Given the description of an element on the screen output the (x, y) to click on. 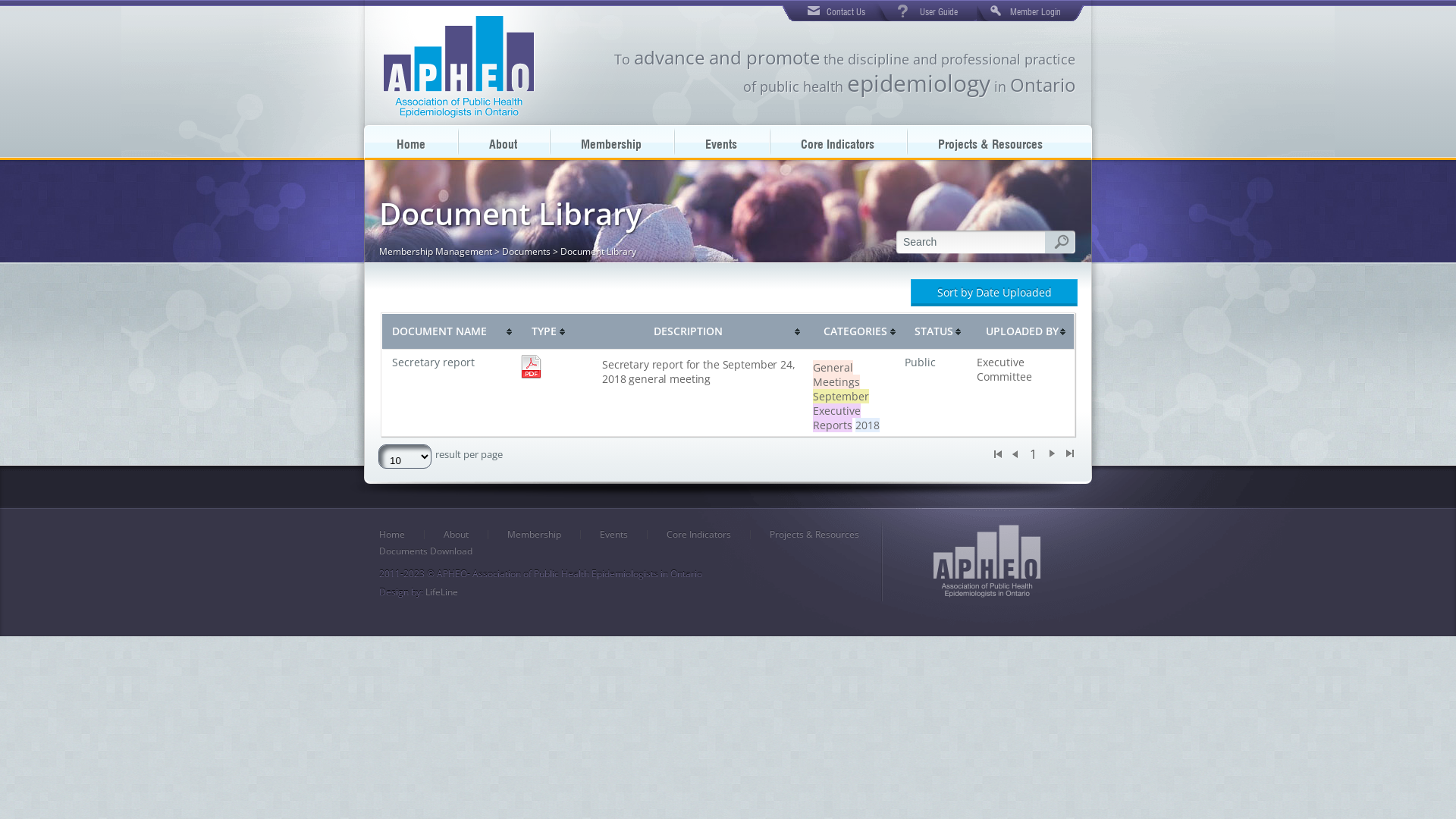
Documents Download Element type: text (425, 550)
Home Element type: text (391, 534)
General Meetings Element type: text (835, 374)
Sort by Date Uploaded Element type: text (993, 292)
  Element type: text (458, 66)
Core Indicators Element type: text (698, 534)
Previous page Element type: hover (1013, 454)
Home Element type: text (410, 141)
Membership Management Element type: text (435, 251)
Projects & Resources Element type: text (814, 534)
Projects & Resources Element type: text (990, 141)
Last page Element type: hover (1068, 454)
Executive Committee Element type: text (1004, 368)
First page Element type: hover (996, 454)
Next page Element type: hover (1052, 454)
About Element type: text (503, 141)
1 Element type: text (1033, 454)
September Element type: text (840, 396)
Membership Element type: text (534, 534)
Events Element type: text (720, 141)
Documents Element type: text (526, 251)
Events Element type: text (613, 534)
Membership Element type: text (611, 141)
LifeLine Element type: text (441, 591)
Core Indicators Element type: text (837, 141)
Contact Us Element type: text (836, 10)
2018 Element type: text (867, 424)
About Element type: text (455, 534)
User Guide Element type: text (935, 10)
Executive Reports Element type: text (836, 417)
Member Login Element type: text (1028, 10)
